Given the description of an element on the screen output the (x, y) to click on. 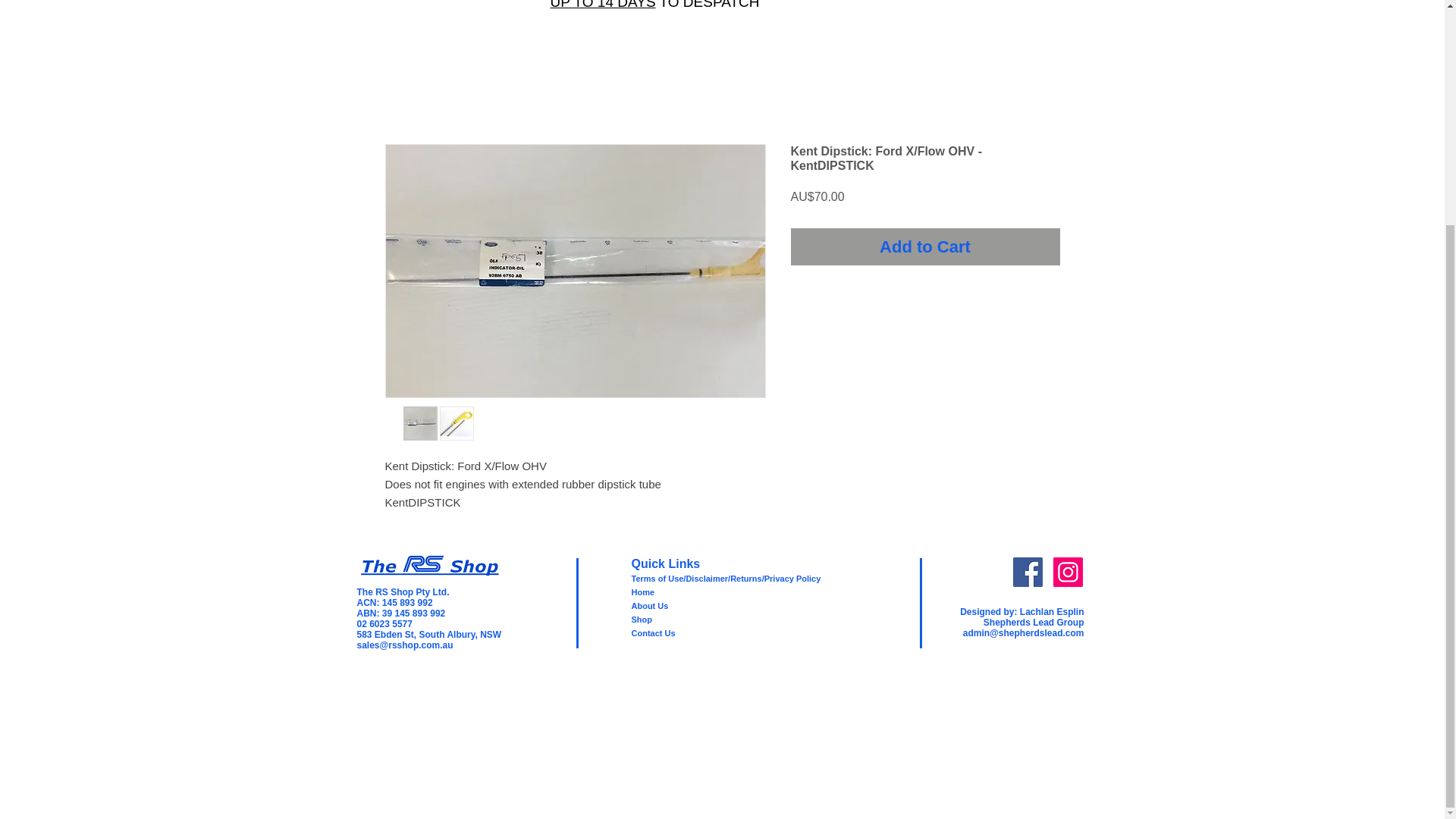
Contact Us (652, 633)
Home (641, 592)
About Us (649, 605)
Shop (641, 619)
Add to Cart (924, 246)
